Given the description of an element on the screen output the (x, y) to click on. 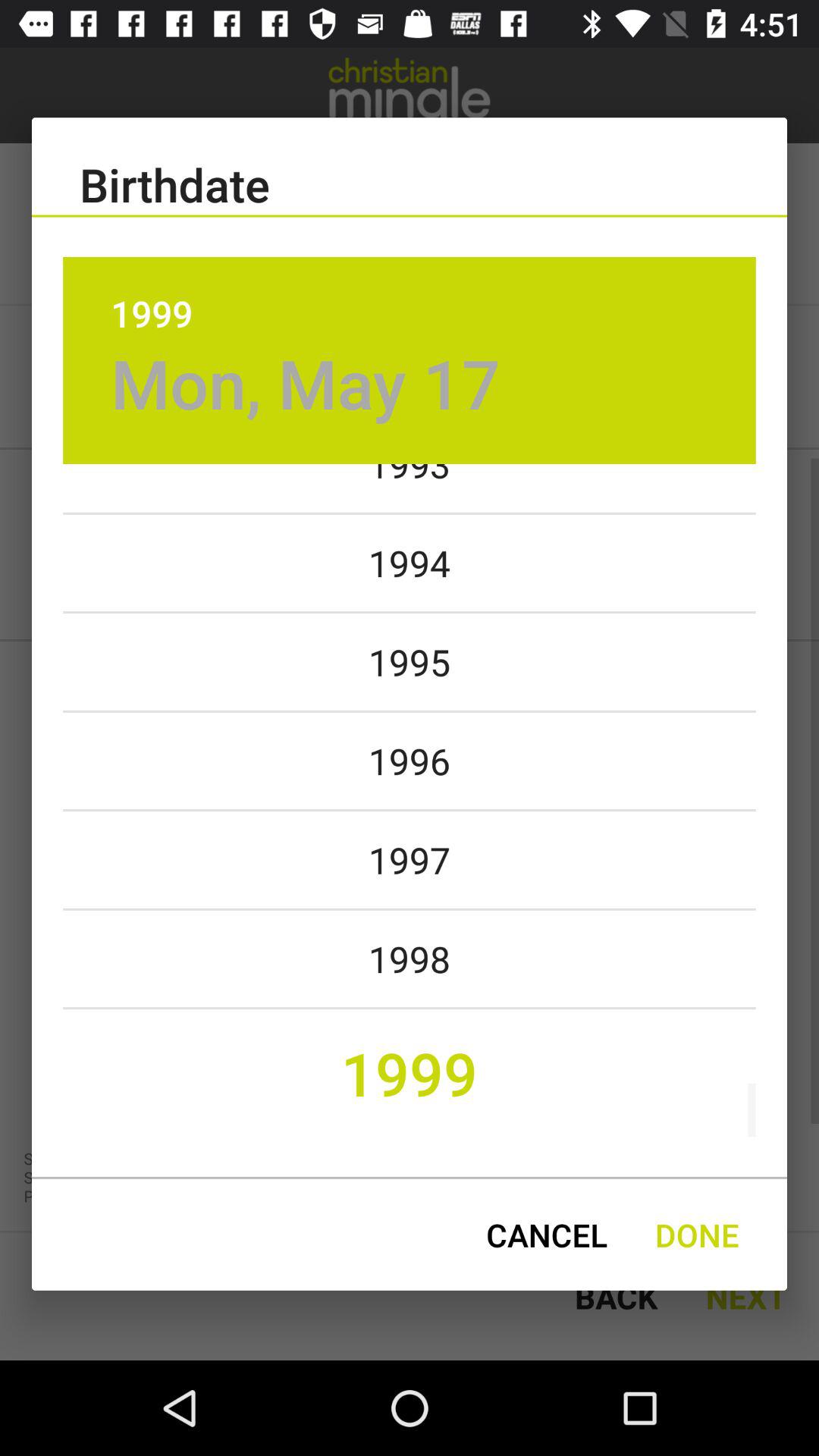
turn on the done icon (697, 1234)
